Given the description of an element on the screen output the (x, y) to click on. 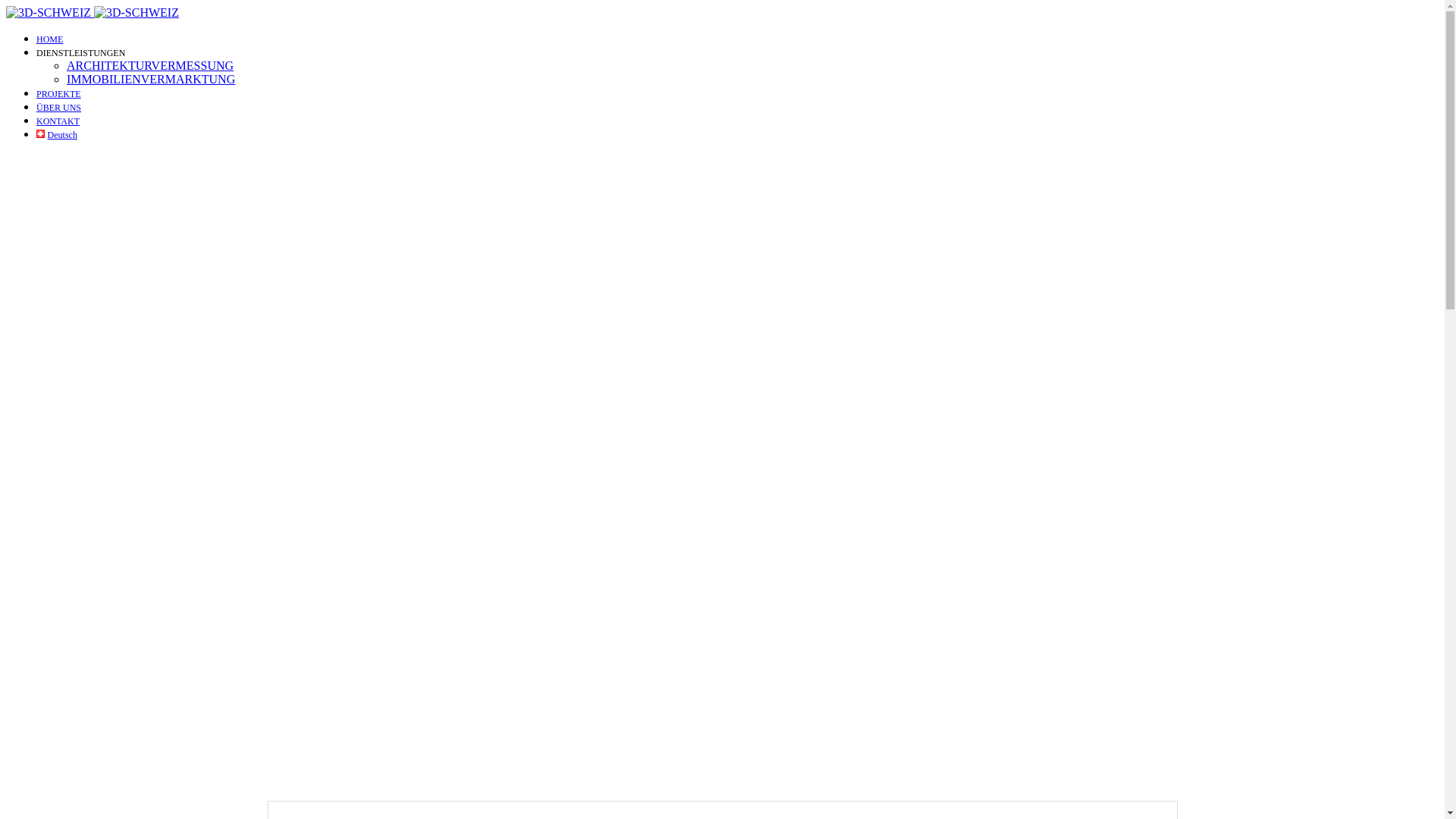
PROJEKTE Element type: text (58, 93)
IMMOBILIENVERMARKTUNG Element type: text (150, 78)
DIENSTLEISTUNGEN Element type: text (80, 52)
KONTAKT Element type: text (57, 121)
Deutsch Element type: text (56, 134)
ARCHITEKTURVERMESSUNG Element type: text (149, 65)
HOME Element type: text (49, 39)
